Given the description of an element on the screen output the (x, y) to click on. 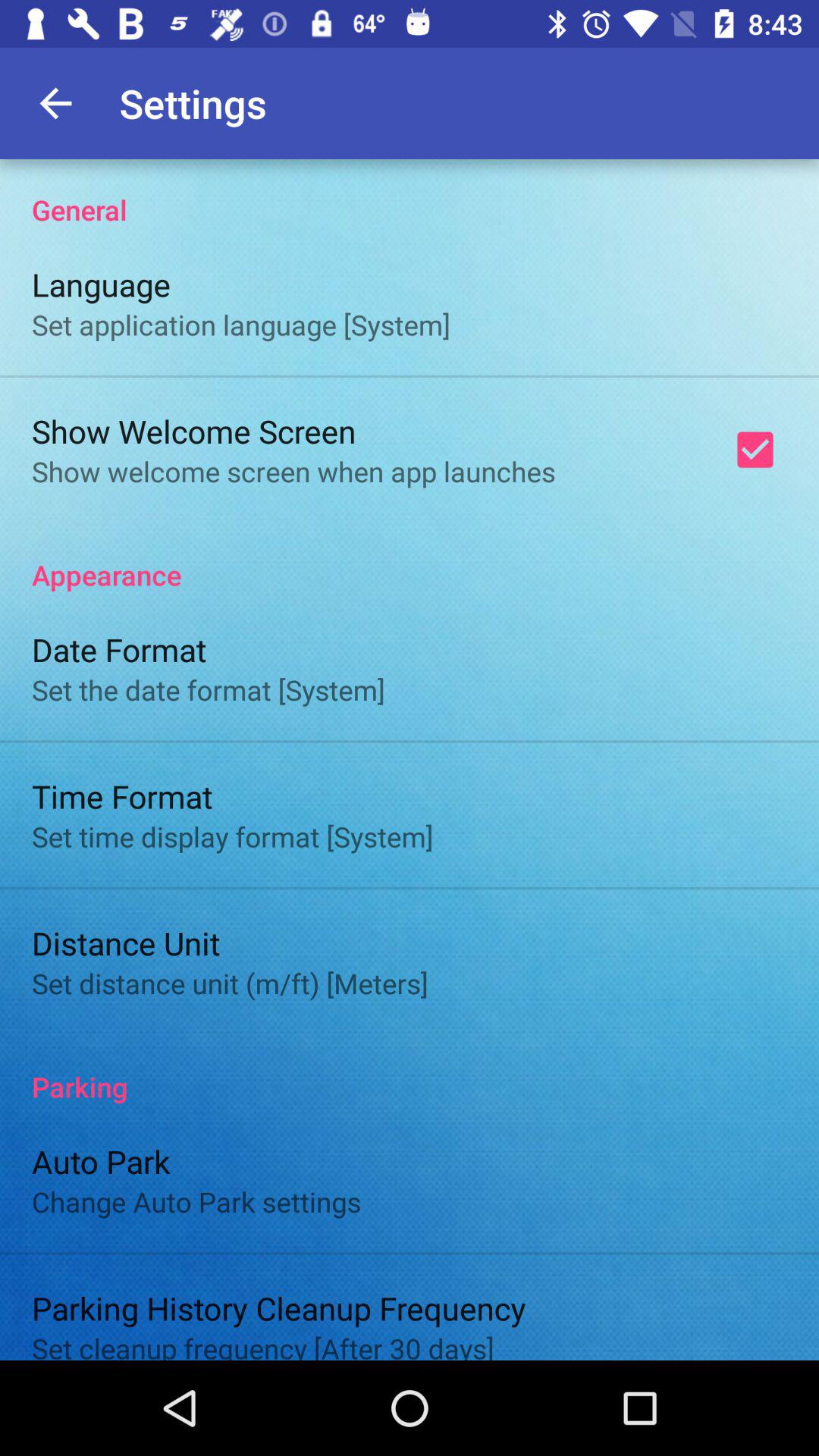
click icon above show welcome screen icon (240, 324)
